Given the description of an element on the screen output the (x, y) to click on. 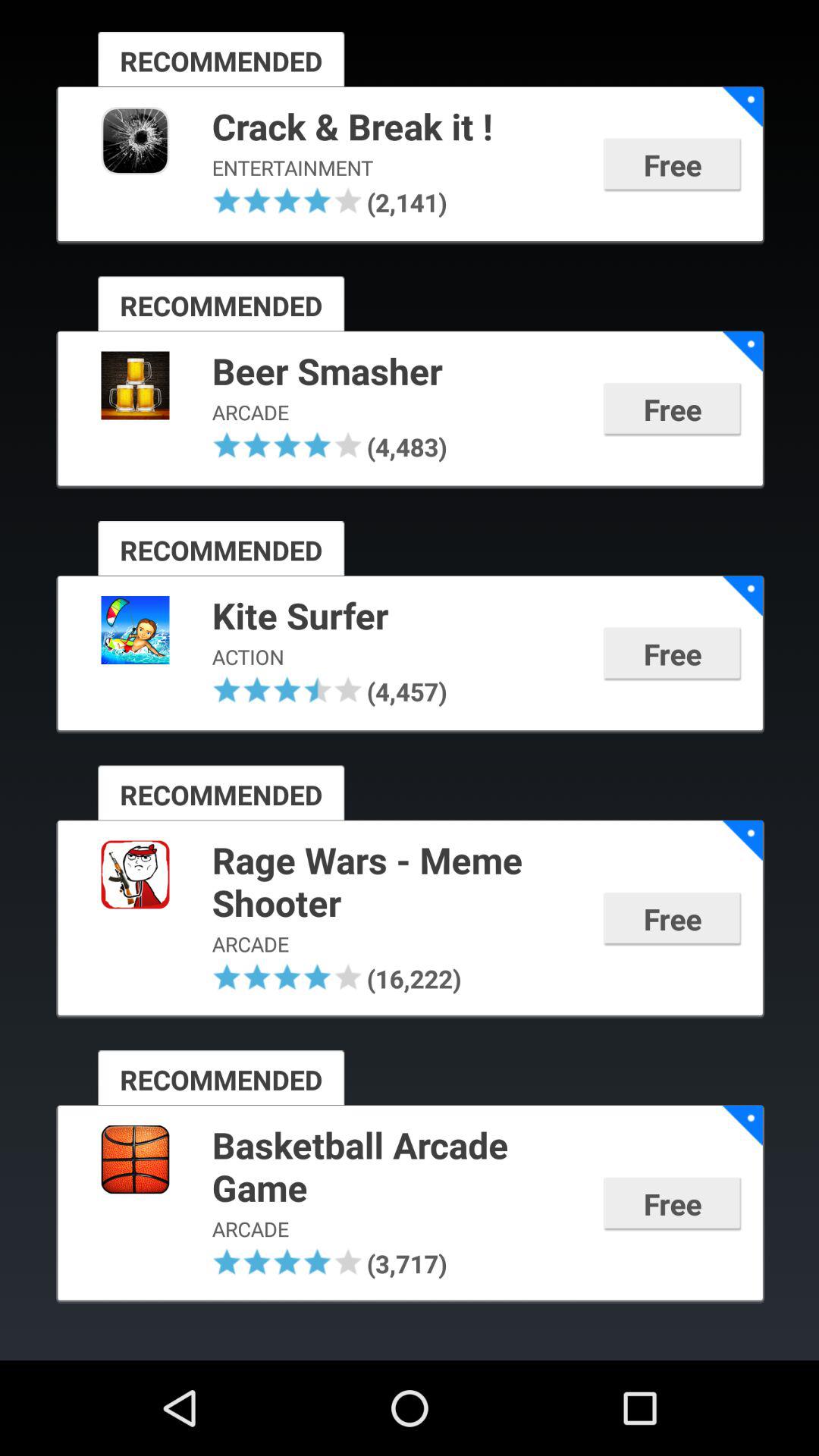
launch item next to the free (397, 617)
